Given the description of an element on the screen output the (x, y) to click on. 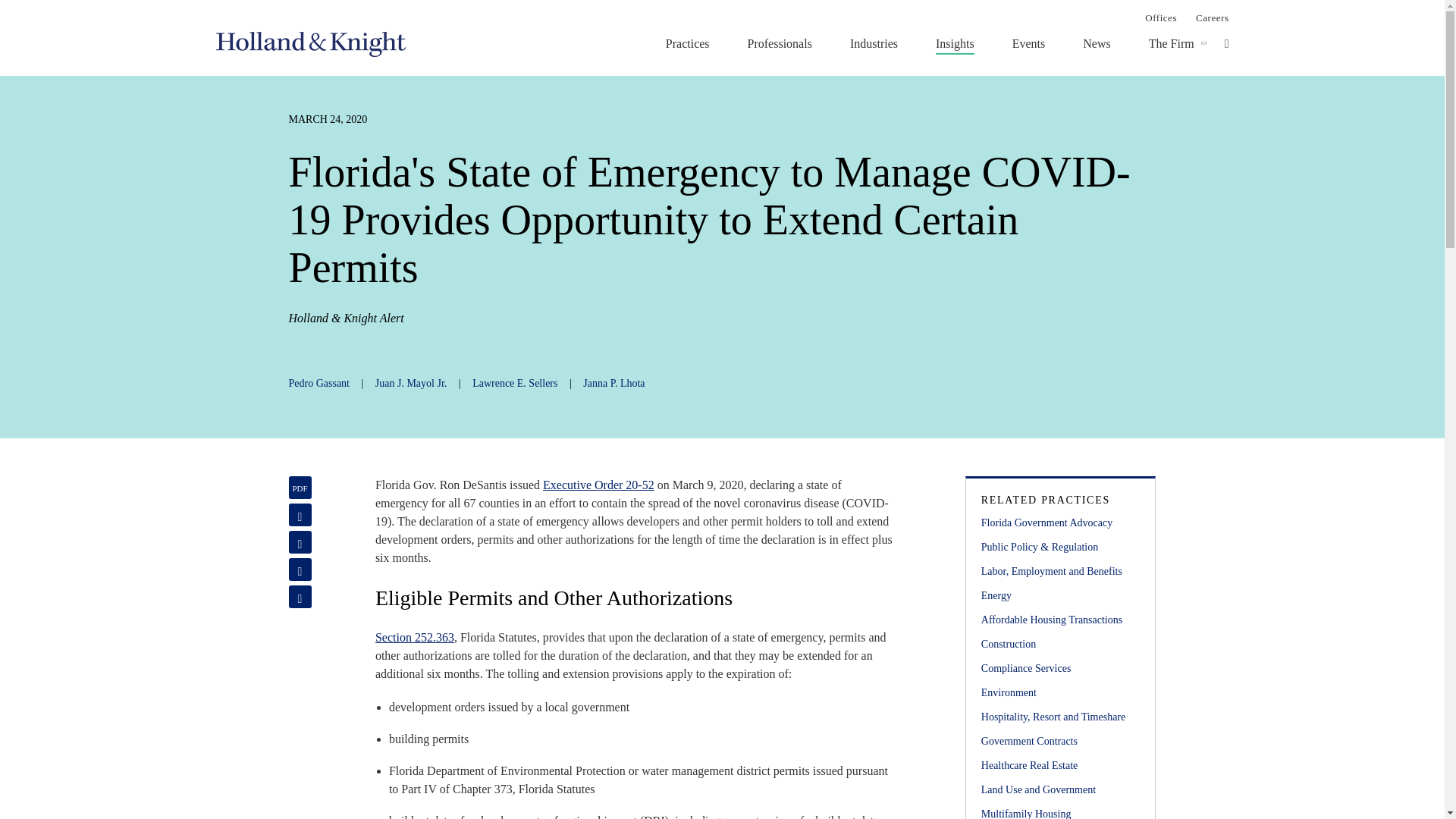
Practices (687, 42)
The Firm (1170, 43)
Careers (1211, 16)
News (1096, 42)
Juan J. Mayol Jr. (410, 383)
Events (1028, 42)
Professionals (780, 42)
Lawrence E. Sellers (514, 383)
Pedro Gassant (318, 383)
Janna P. Lhota (614, 383)
Offices (1160, 16)
Insights (955, 42)
Industries (874, 42)
